Given the description of an element on the screen output the (x, y) to click on. 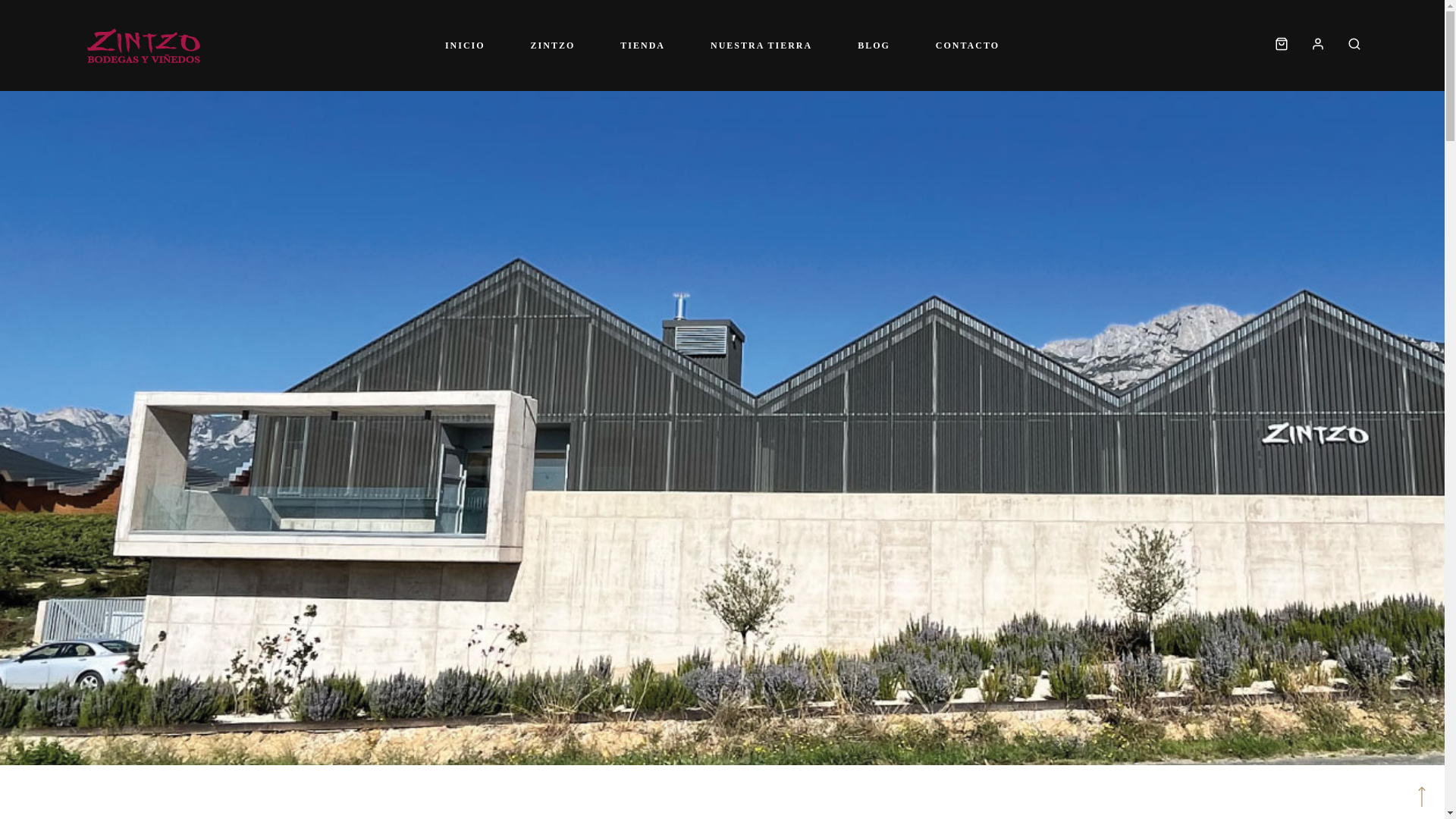
CONTACTO (967, 45)
BLOG (873, 45)
INICIO (465, 45)
TIENDA (641, 45)
View your shopping cart (1281, 45)
Bodegas ZINTZO (143, 44)
NUESTRA TIERRA (760, 45)
ZINTZO (553, 45)
